Given the description of an element on the screen output the (x, y) to click on. 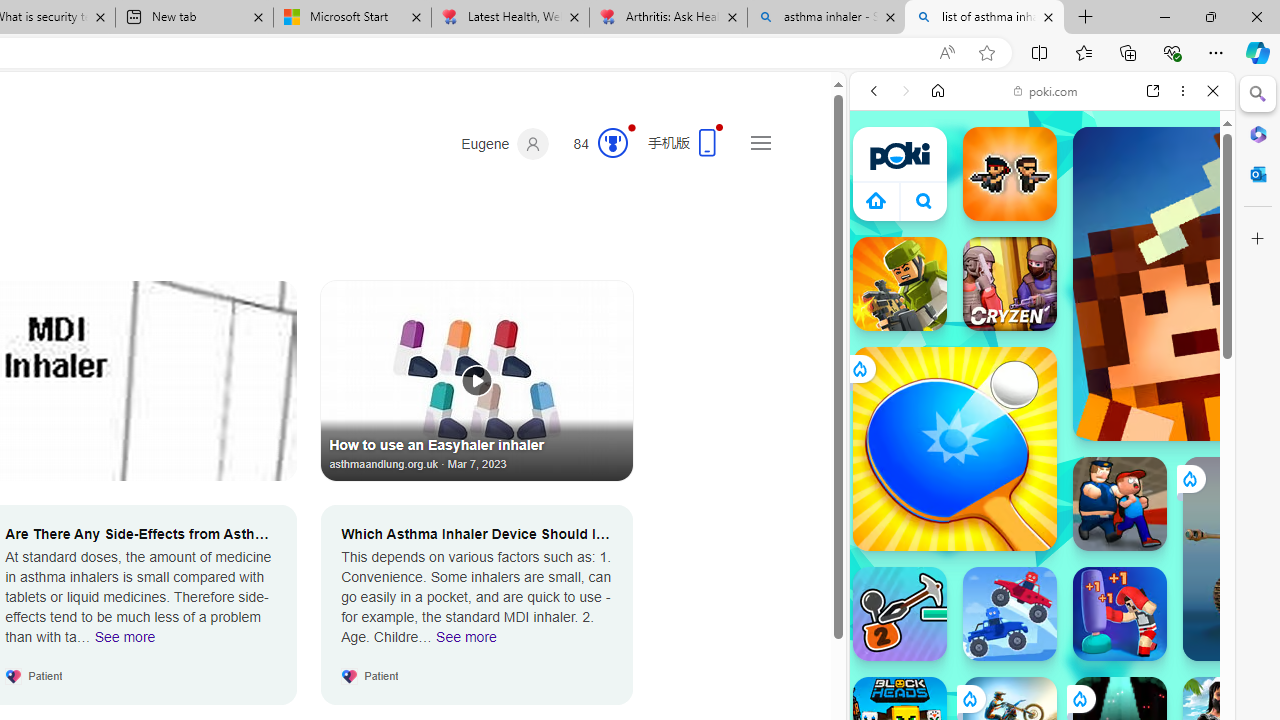
asthma inhaler - Search (825, 17)
